Given the description of an element on the screen output the (x, y) to click on. 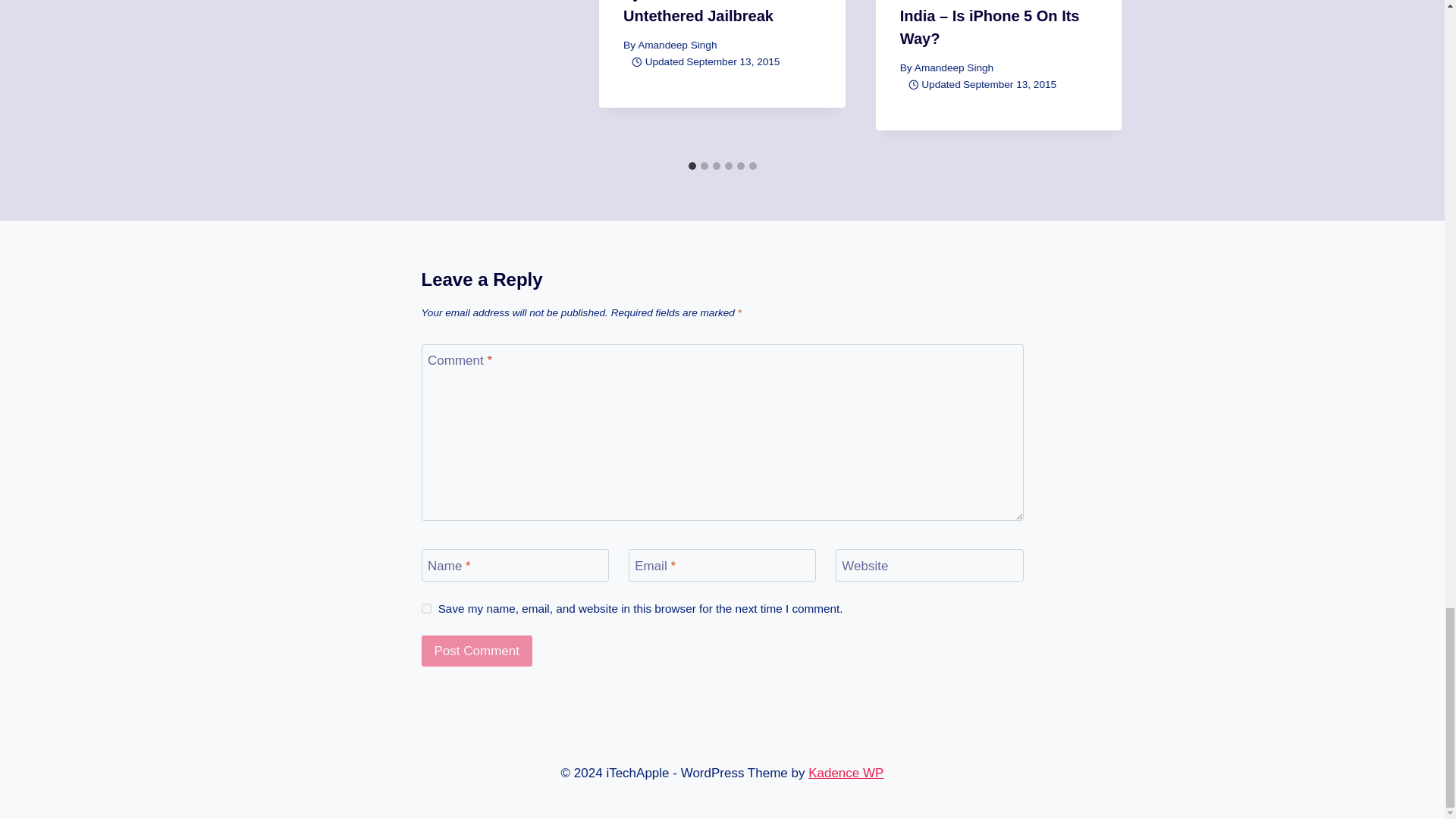
yes (426, 608)
Post Comment (477, 650)
